Given the description of an element on the screen output the (x, y) to click on. 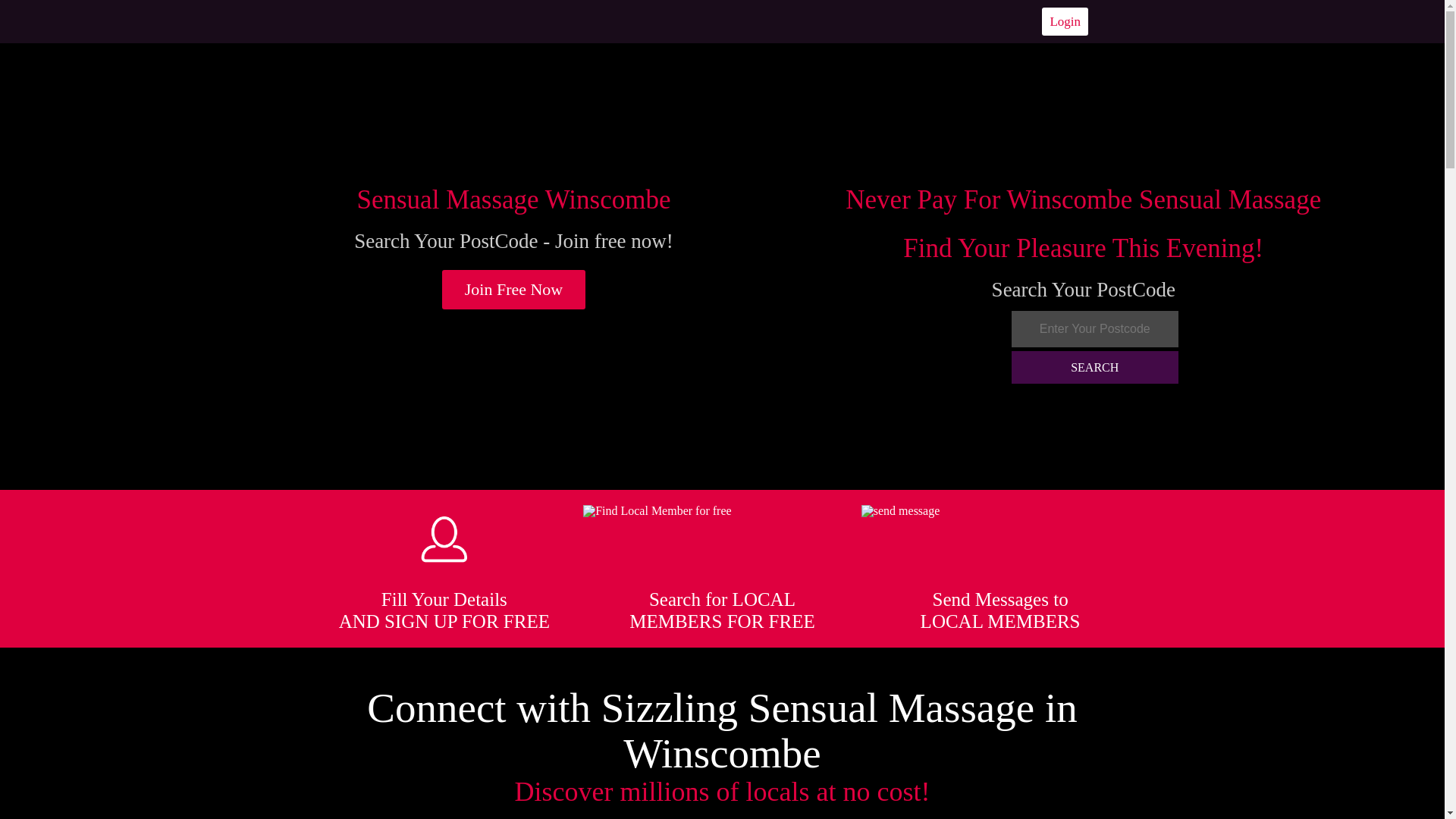
Login (1064, 21)
Join Free Now (514, 289)
SEARCH (1094, 367)
Login (1064, 21)
Join (514, 289)
